Given the description of an element on the screen output the (x, y) to click on. 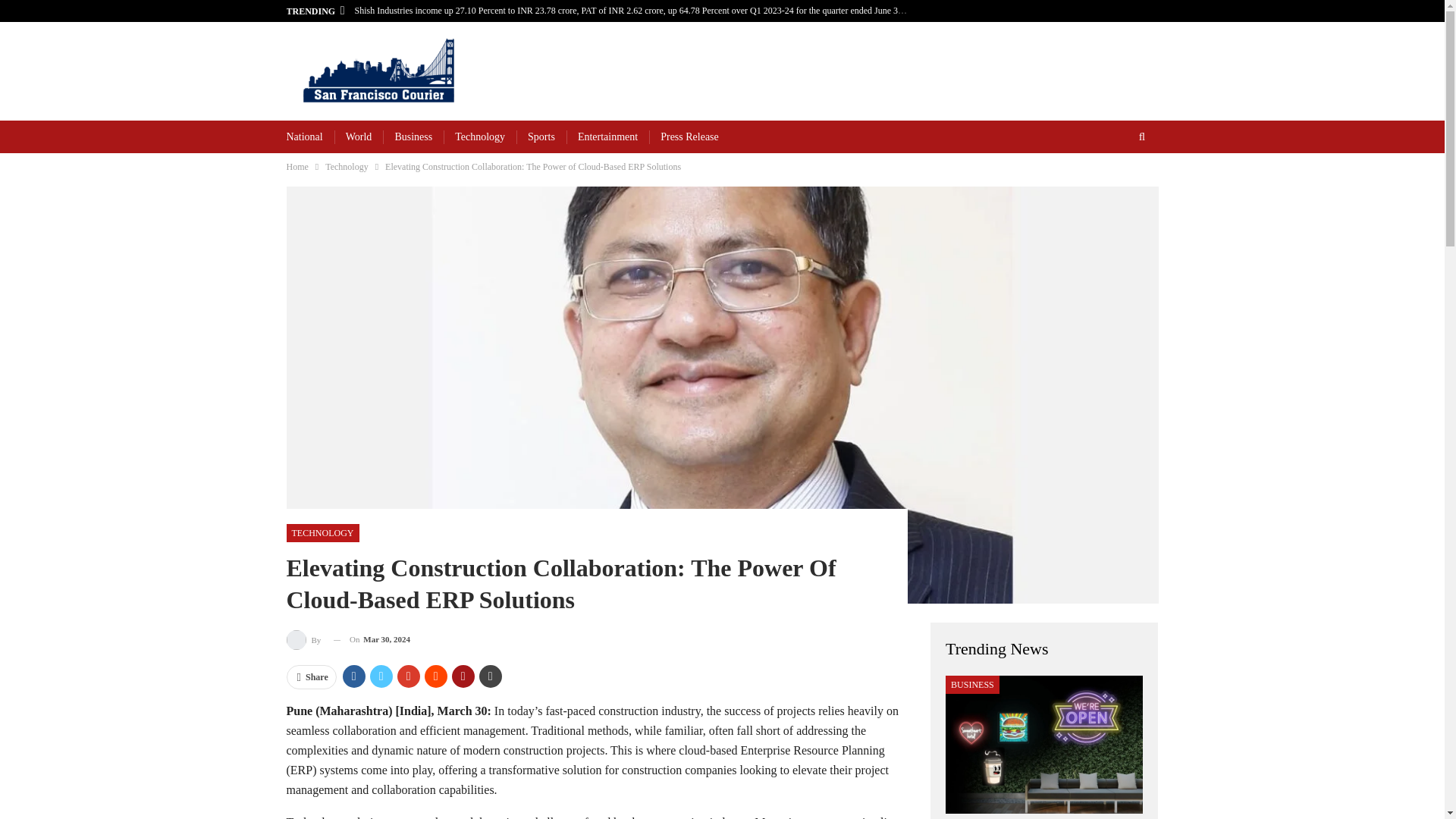
Sports (540, 136)
National (304, 136)
Technology (346, 166)
TECHNOLOGY (322, 533)
Browse Author Articles (304, 639)
Entertainment (607, 136)
By (304, 639)
Press Release (690, 136)
Technology (479, 136)
World (359, 136)
Home (297, 166)
Business (413, 136)
